Given the description of an element on the screen output the (x, y) to click on. 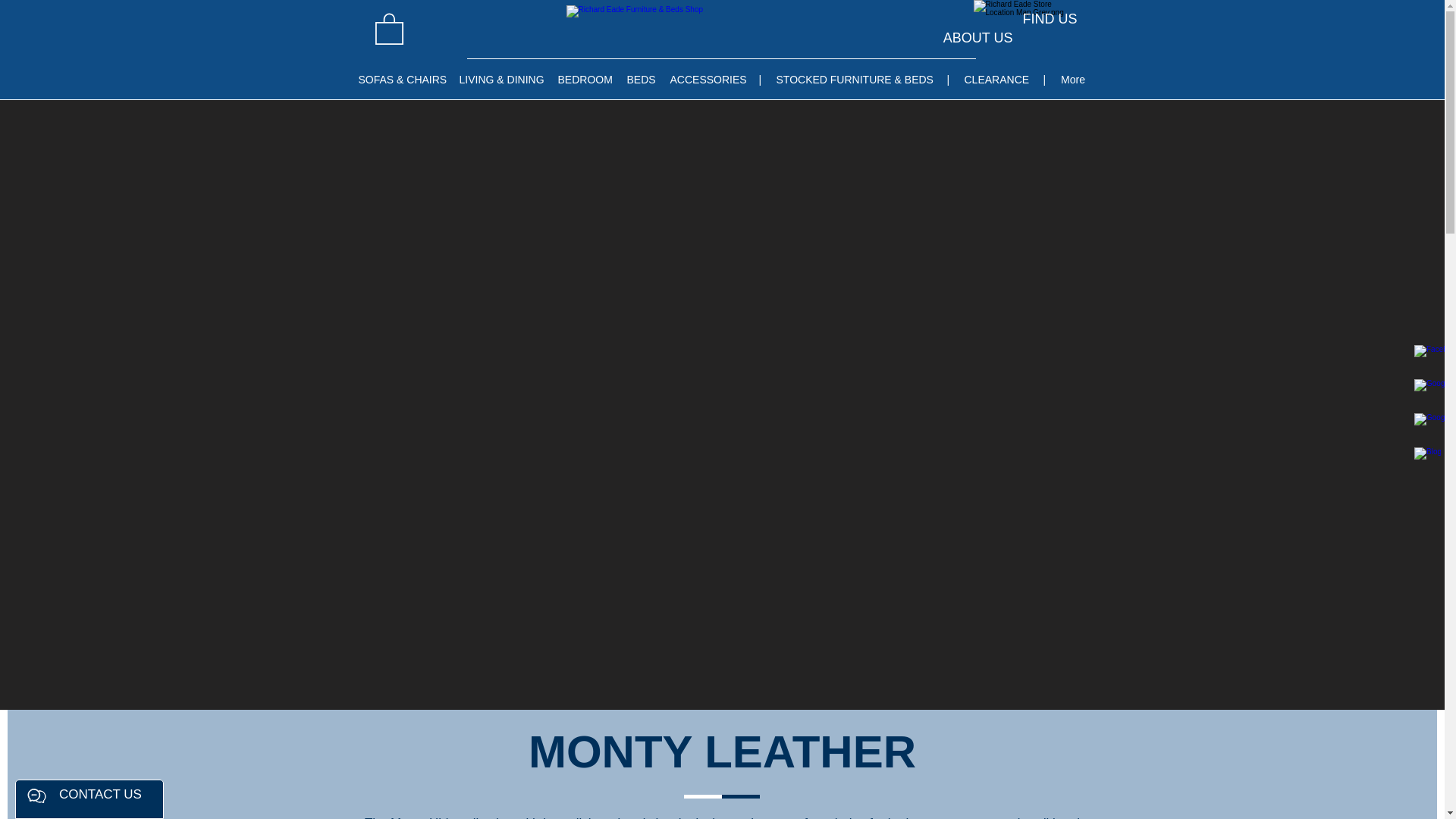
FIND US (1049, 18)
BEDROOM (585, 78)
BEDS (640, 78)
ABOUT US (978, 37)
